Given the description of an element on the screen output the (x, y) to click on. 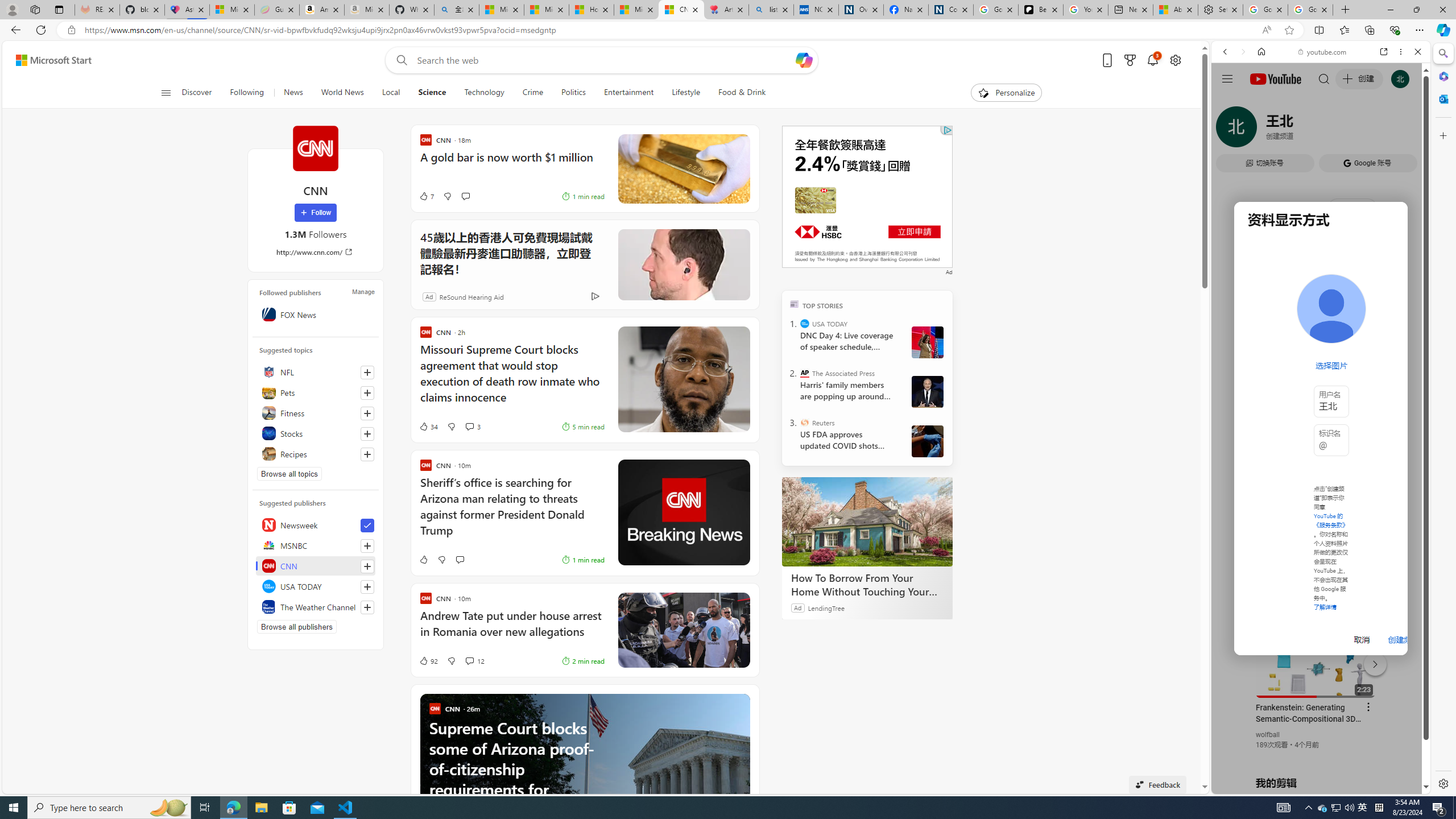
Open settings (1175, 60)
Entertainment (627, 92)
Discover (197, 92)
Google (1320, 281)
YouTube (1315, 655)
Crime (532, 92)
Follow this topic (367, 454)
http://www.cnn.com/ (315, 251)
Follow this source (367, 607)
Personalize (1006, 92)
Dislike (451, 661)
